Given the description of an element on the screen output the (x, y) to click on. 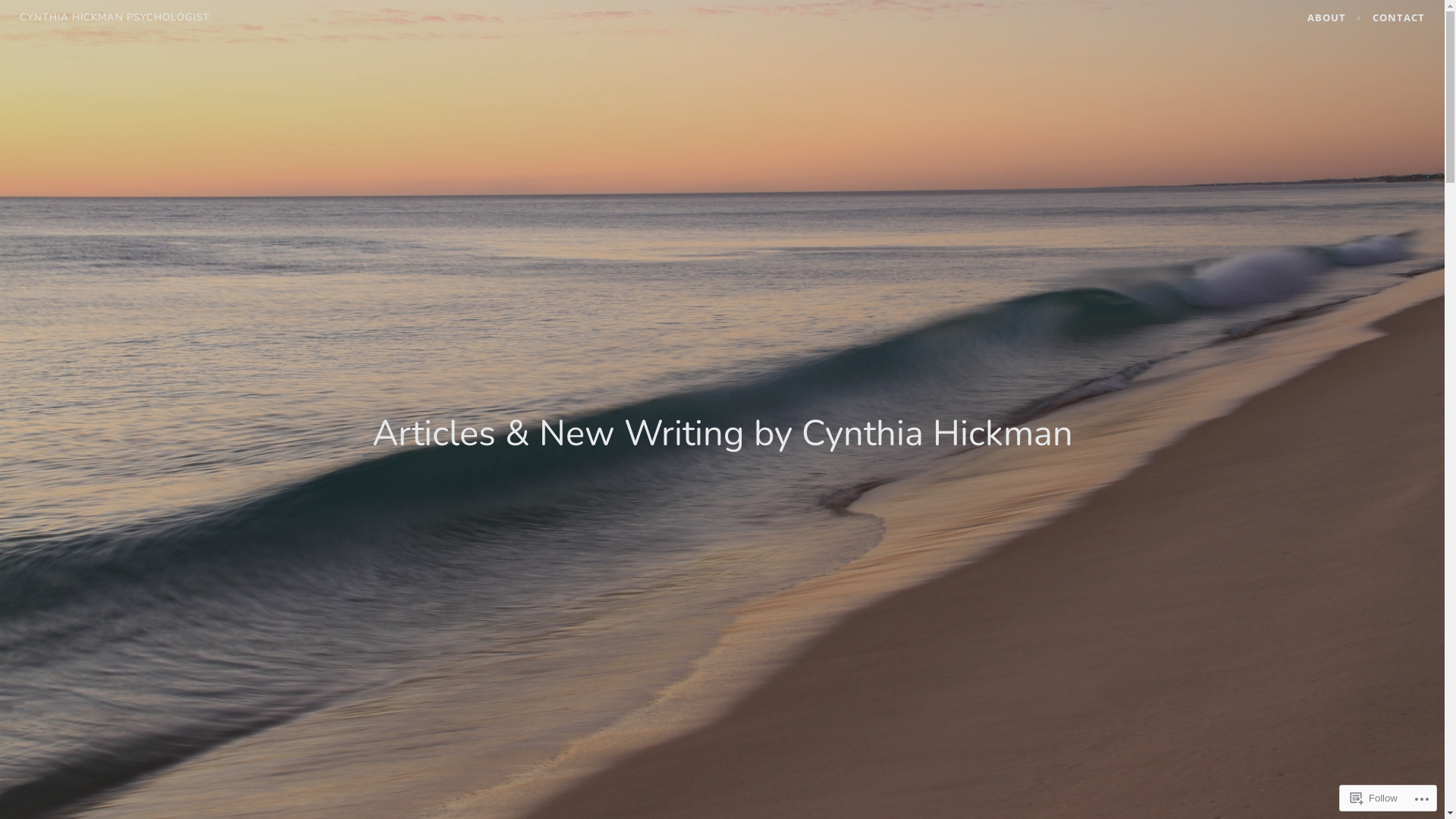
Follow Element type: text (1373, 797)
ABOUT Element type: text (1334, 17)
CONTACT Element type: text (1398, 17)
CYNTHIA HICKMAN PSYCHOLOGIST Element type: text (114, 17)
Articles & New Writing by Cynthia Hickman Element type: text (721, 433)
